Given the description of an element on the screen output the (x, y) to click on. 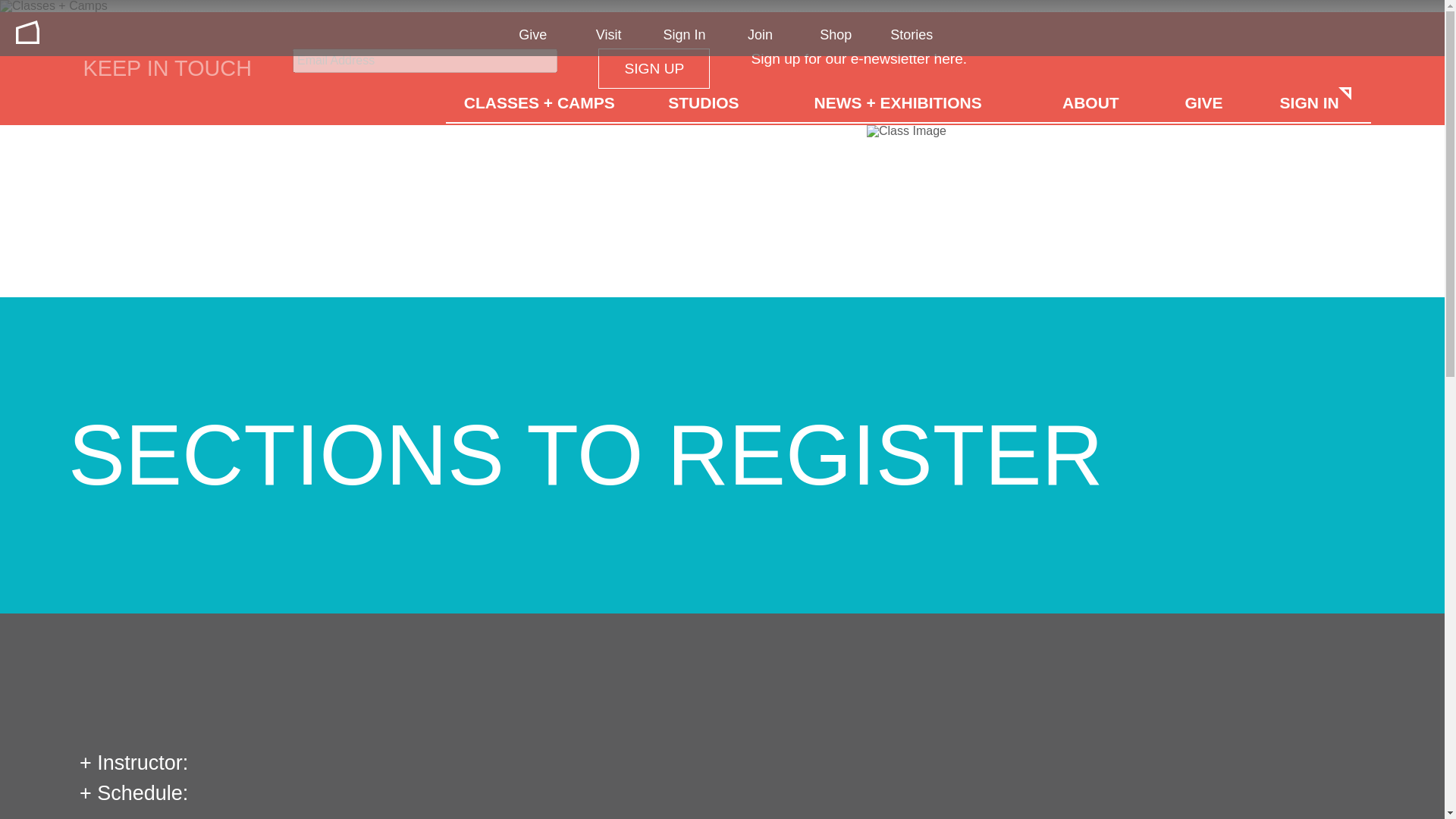
Join (760, 34)
Shop (835, 34)
Sign In (684, 34)
Give (532, 34)
Sign Up (654, 68)
Stories (911, 34)
STUDIOS (703, 101)
Skip to main content (12, 12)
Visit (608, 34)
